Given the description of an element on the screen output the (x, y) to click on. 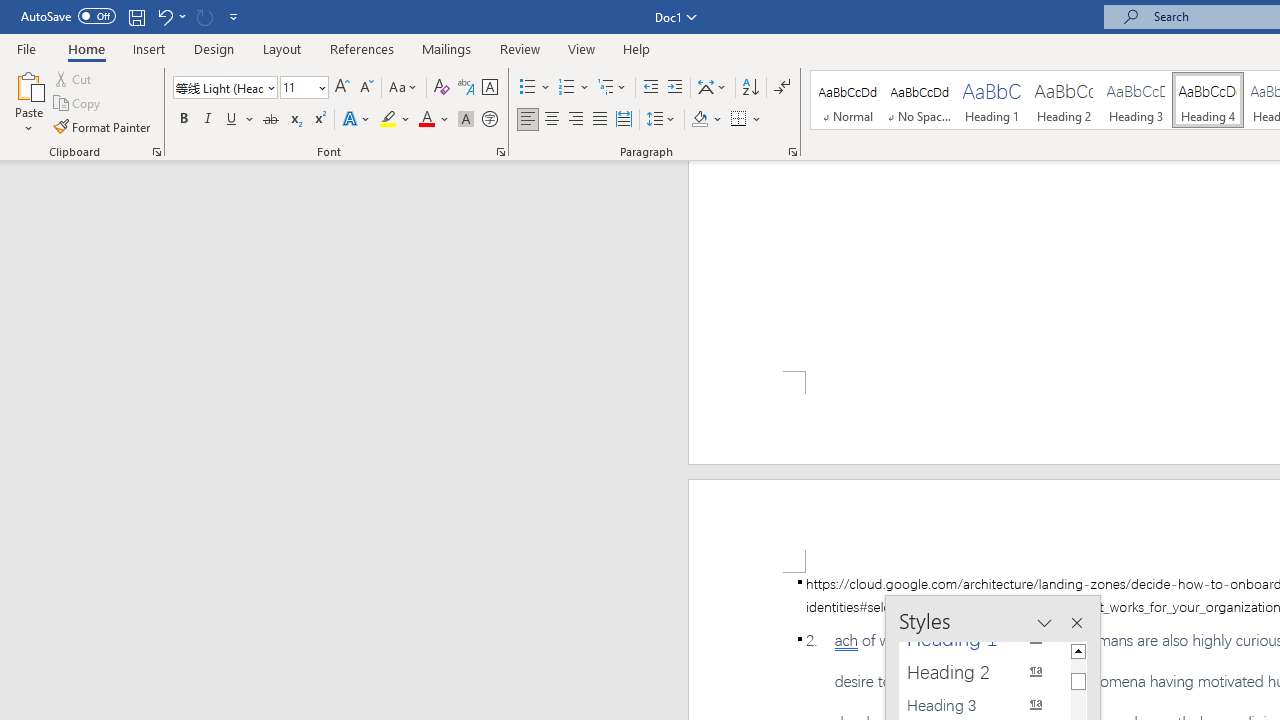
Font Color (434, 119)
Line and Paragraph Spacing (661, 119)
Borders (739, 119)
Home (86, 48)
Font Size (297, 87)
Decrease Indent (650, 87)
Font Size (304, 87)
Paste (28, 84)
Customize Quick Access Toolbar (234, 15)
Can't Repeat (204, 15)
Layout (282, 48)
Distributed (623, 119)
Bold (183, 119)
Justify (599, 119)
Office Clipboard... (156, 151)
